Given the description of an element on the screen output the (x, y) to click on. 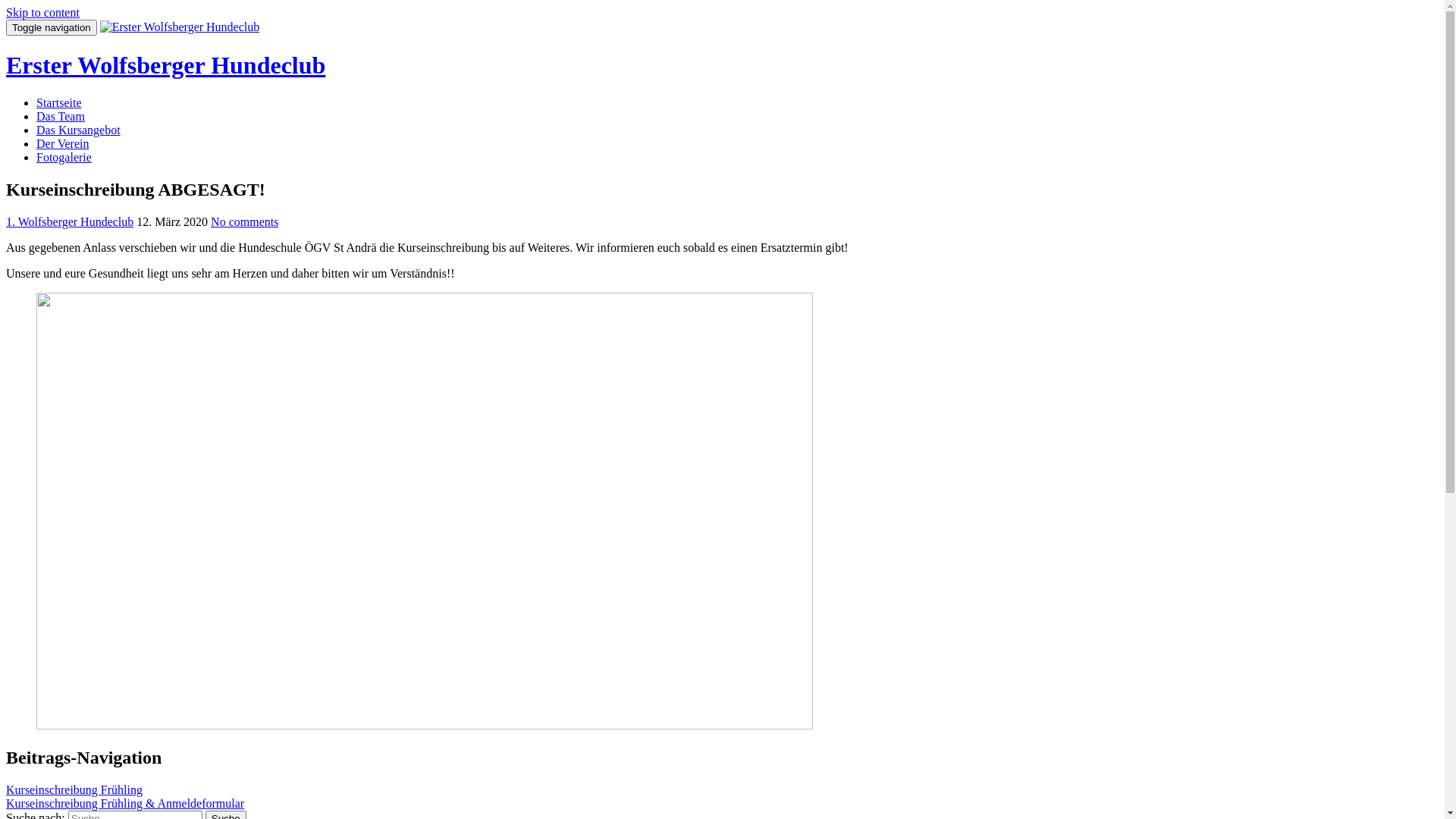
Toggle navigation Element type: text (51, 27)
Das Kursangebot Element type: text (78, 129)
Erster Wolfsberger Hundeclub Element type: text (165, 64)
Startseite Element type: text (58, 102)
Fotogalerie Element type: text (63, 156)
Das Team Element type: text (60, 115)
Der Verein Element type: text (62, 143)
Skip to content Element type: text (42, 12)
No comments Element type: text (244, 221)
1. Wolfsberger Hundeclub Element type: text (69, 221)
Erster Wolfsberger Hundeclub Element type: hover (180, 26)
